Given the description of an element on the screen output the (x, y) to click on. 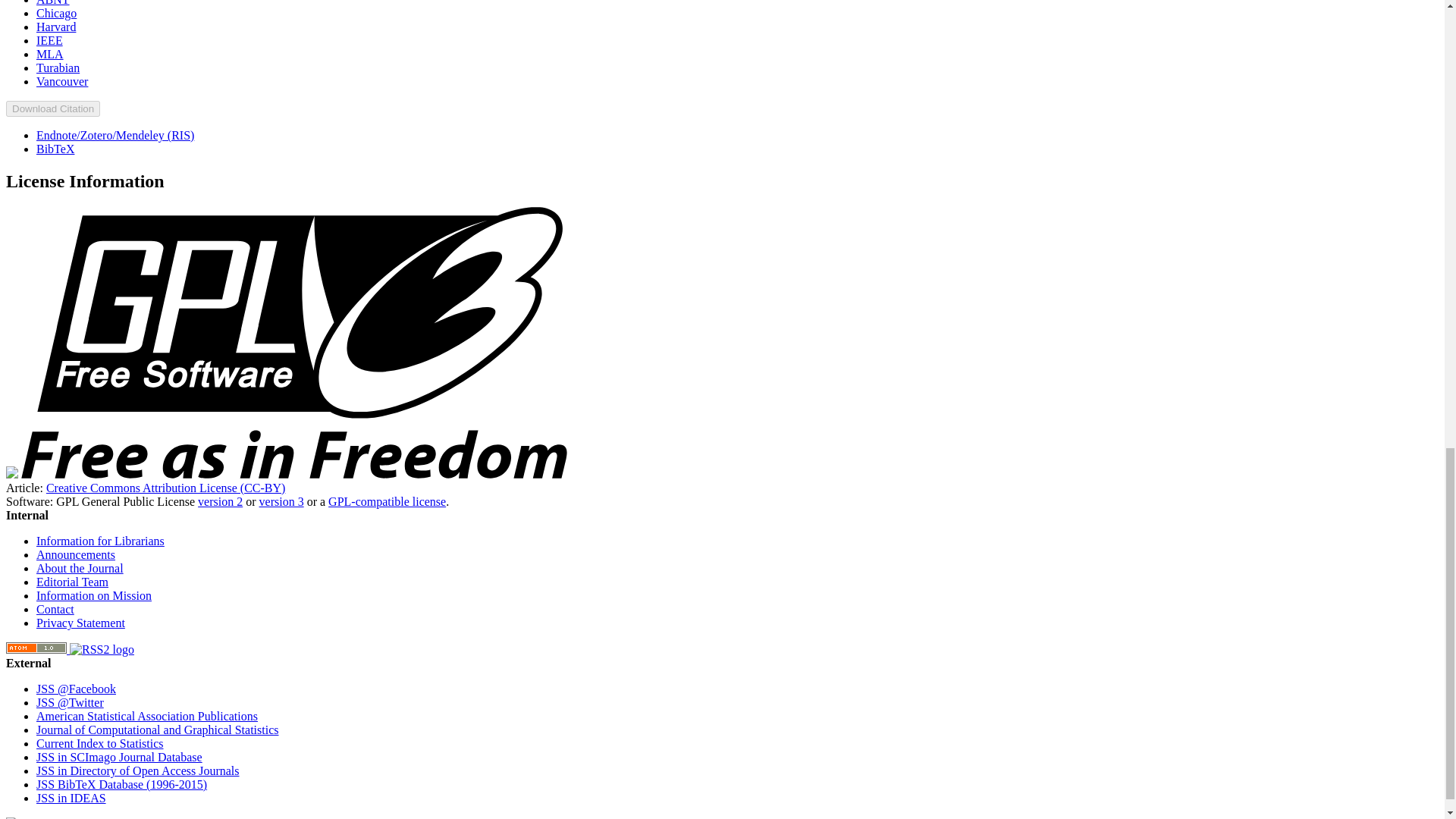
ABNT (52, 2)
Chicago (56, 12)
